Given the description of an element on the screen output the (x, y) to click on. 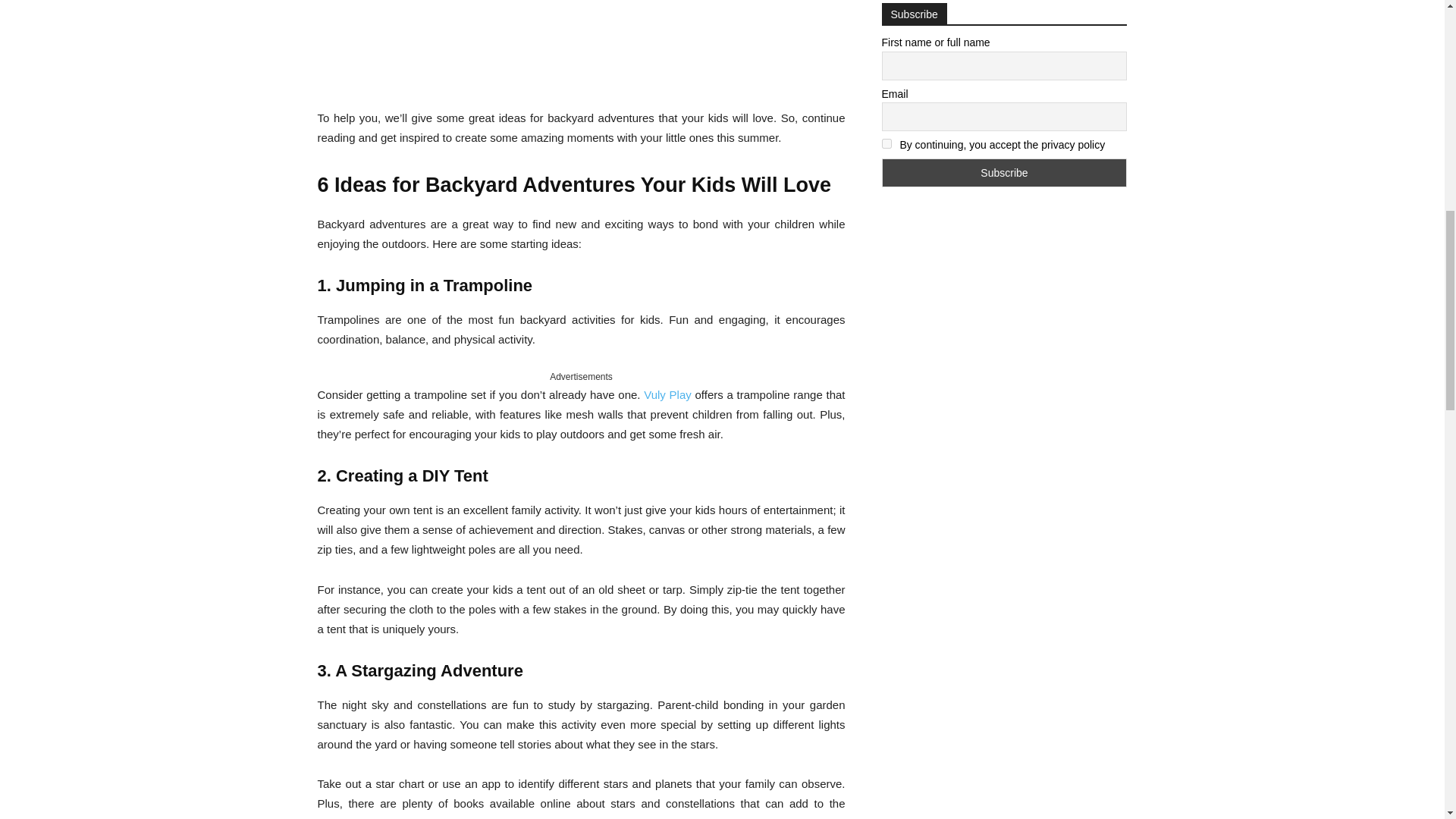
on (885, 143)
Subscribe (1003, 172)
summer backyard adventures for kids (580, 44)
